Given the description of an element on the screen output the (x, y) to click on. 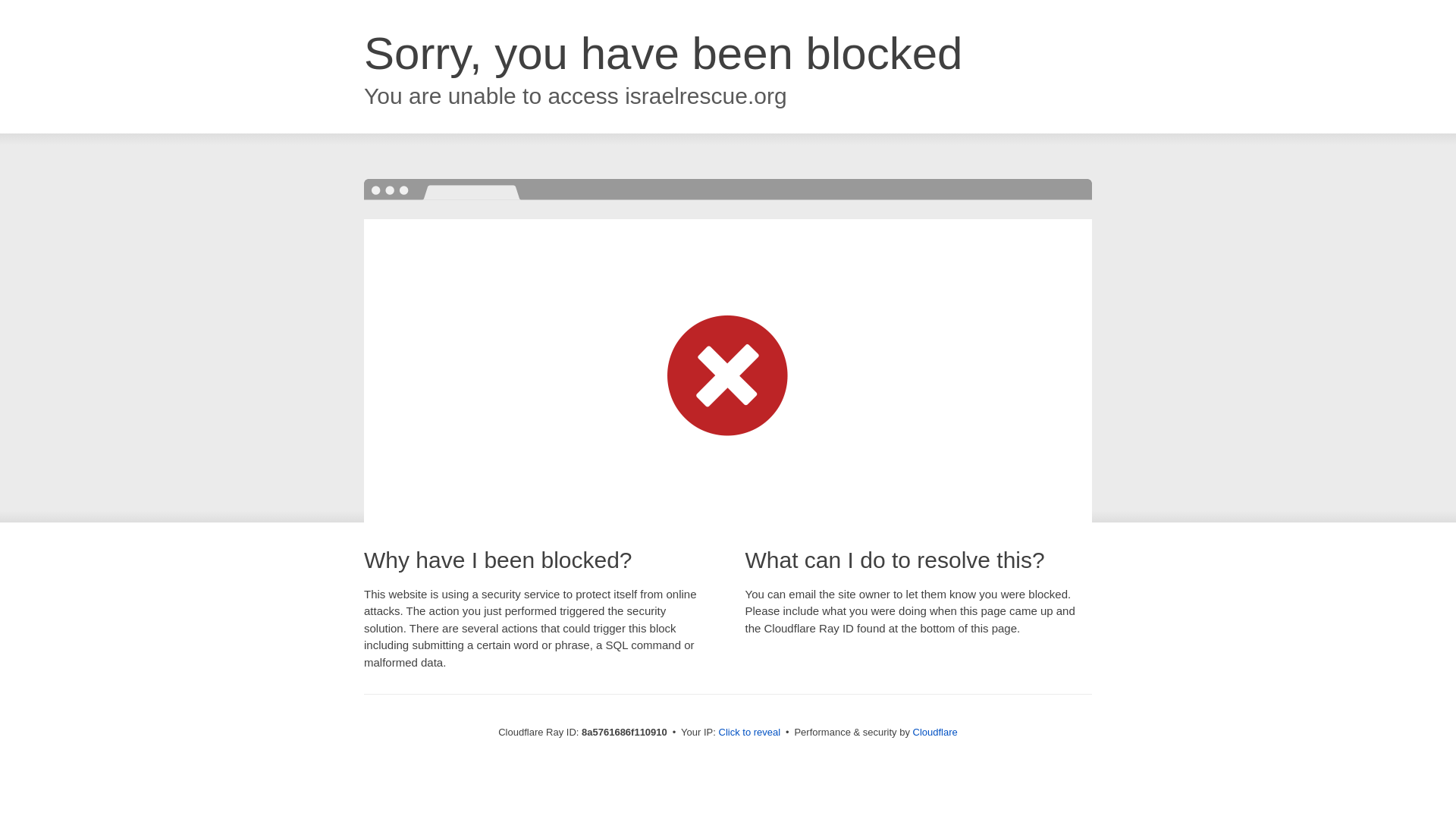
Click to reveal (749, 732)
Cloudflare (935, 731)
